Given the description of an element on the screen output the (x, y) to click on. 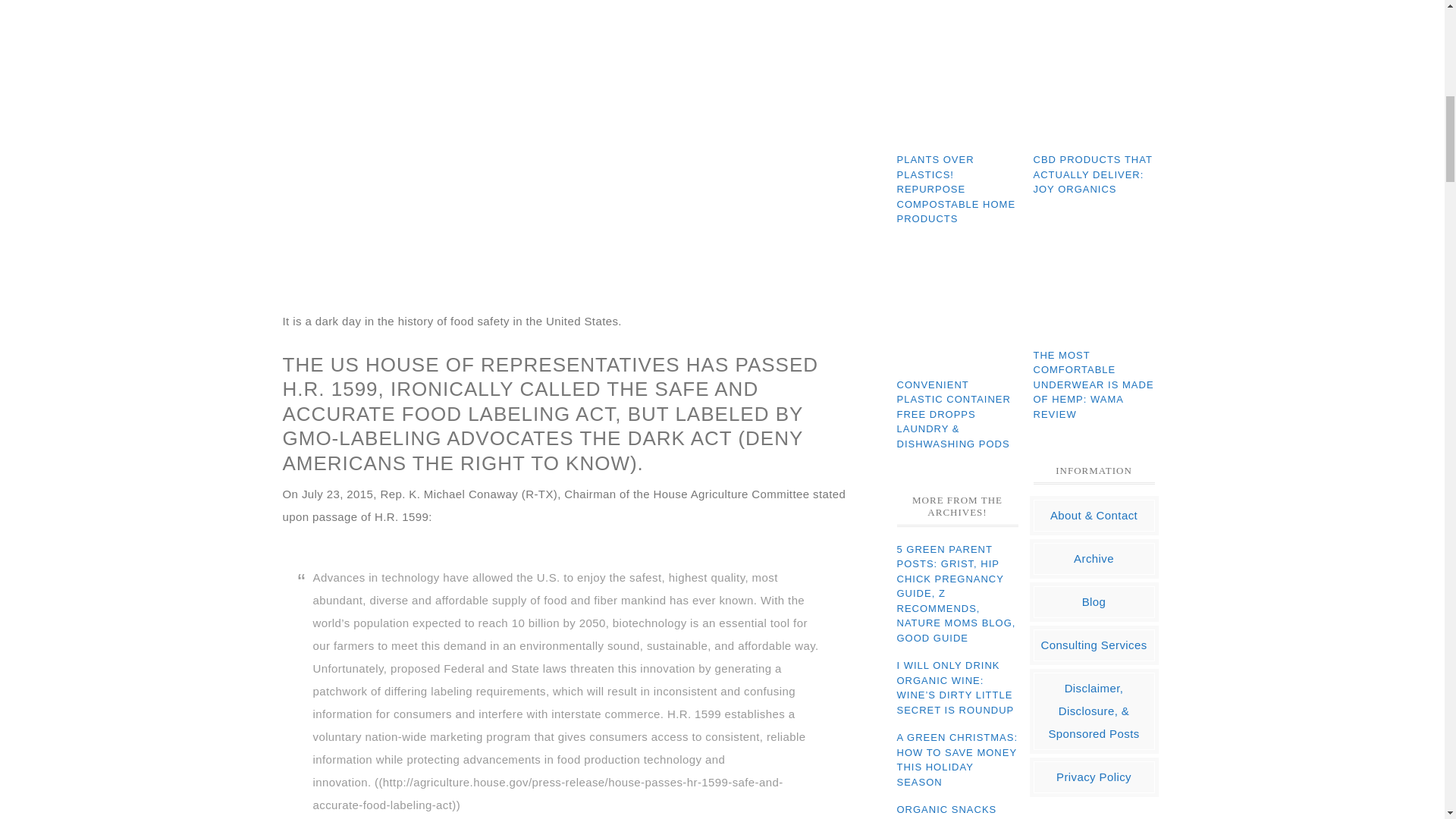
Advertisement (566, 203)
